Given the description of an element on the screen output the (x, y) to click on. 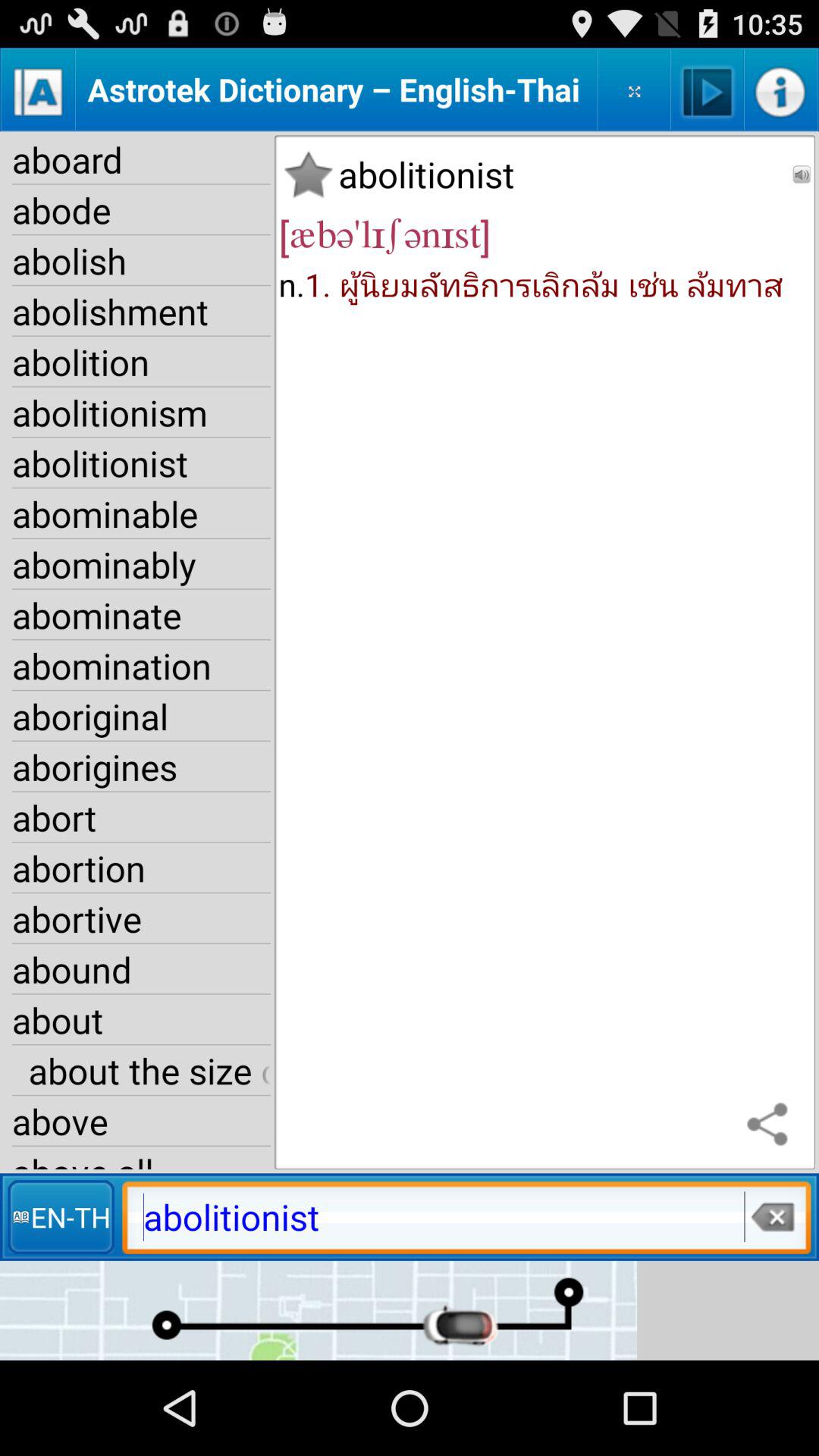
tap the icon next to abolitionist app (308, 174)
